Given the description of an element on the screen output the (x, y) to click on. 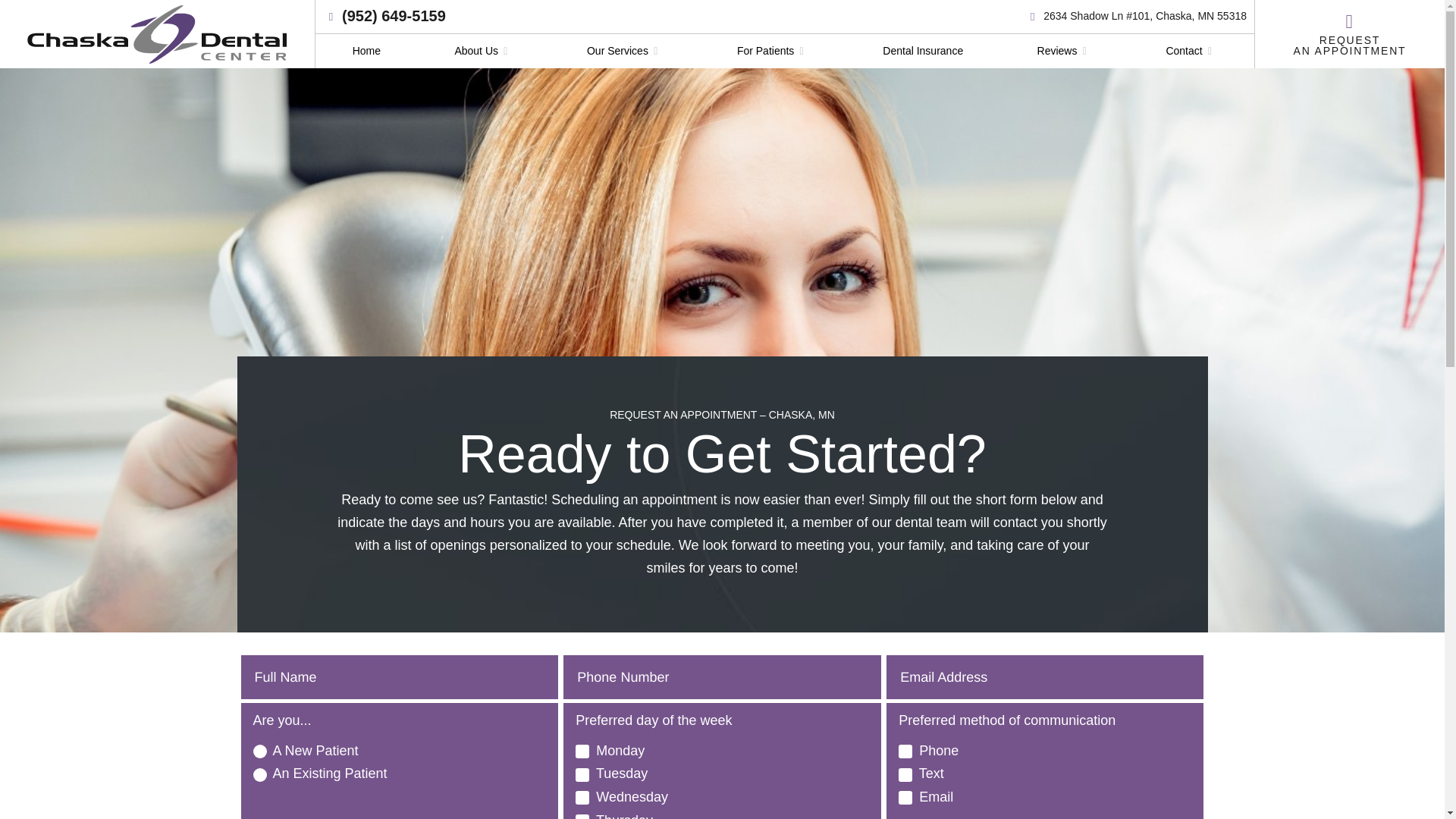
Text (905, 775)
About Us (483, 50)
Wednesday (582, 797)
Existing (259, 775)
Monday (582, 751)
Our Services (625, 50)
Dental Services (625, 50)
About Us (483, 50)
Dentist Chaska, MN (366, 50)
New (259, 751)
Tuesday (582, 775)
Thursday (582, 816)
email (905, 797)
phone (905, 751)
Home (366, 50)
